Given the description of an element on the screen output the (x, y) to click on. 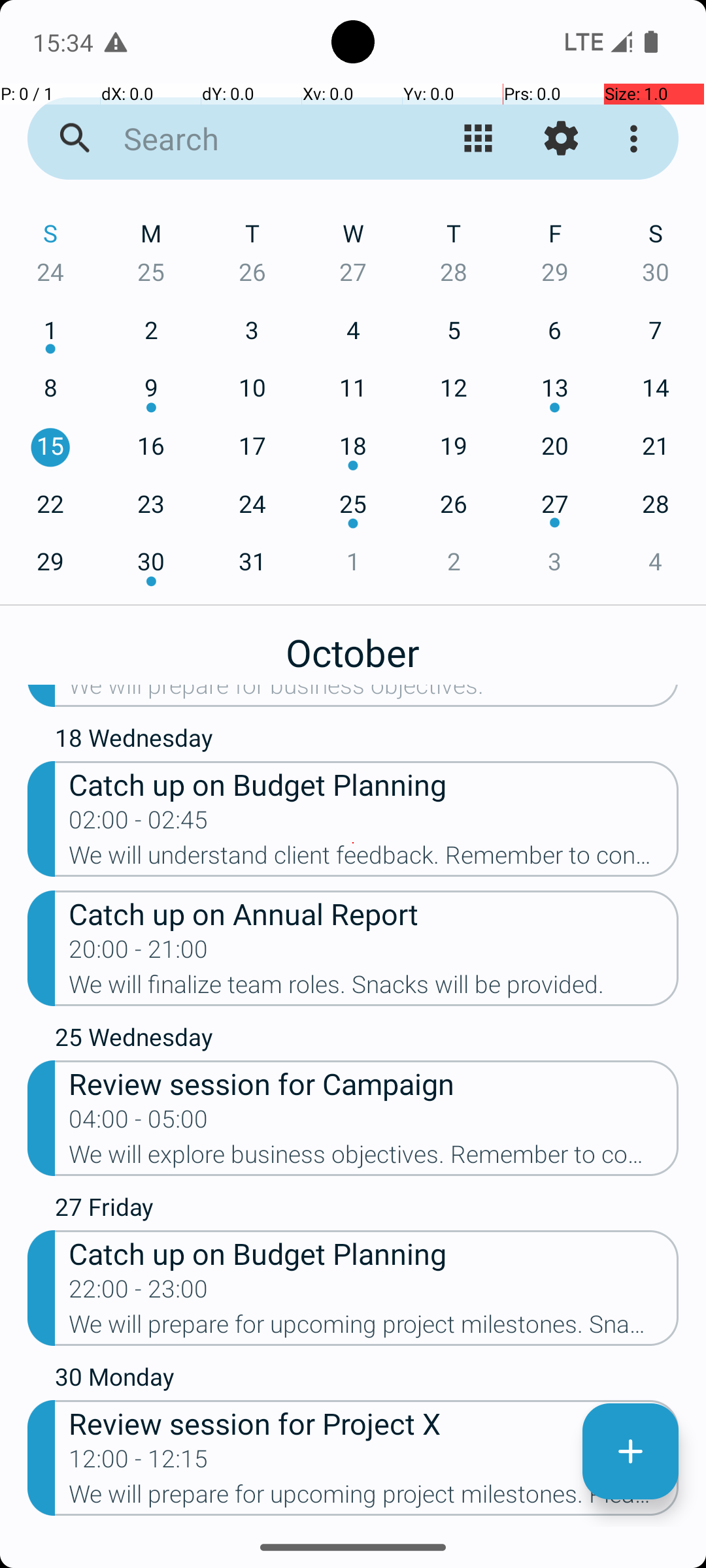
18 Wednesday Element type: android.widget.TextView (366, 740)
25 Wednesday Element type: android.widget.TextView (366, 1039)
27 Friday Element type: android.widget.TextView (366, 1209)
30 Monday Element type: android.widget.TextView (366, 1379)
We will prepare for business objectives. Element type: android.widget.TextView (373, 695)
Catch up on Budget Planning Element type: android.widget.TextView (373, 783)
02:00 - 02:45 Element type: android.widget.TextView (137, 823)
We will understand client feedback. Remember to confirm attendance. Element type: android.widget.TextView (373, 858)
Catch up on Annual Report Element type: android.widget.TextView (373, 912)
20:00 - 21:00 Element type: android.widget.TextView (137, 952)
We will finalize team roles. Snacks will be provided. Element type: android.widget.TextView (373, 988)
Review session for Campaign Element type: android.widget.TextView (373, 1082)
04:00 - 05:00 Element type: android.widget.TextView (137, 1122)
We will explore business objectives. Remember to confirm attendance. Element type: android.widget.TextView (373, 1158)
22:00 - 23:00 Element type: android.widget.TextView (137, 1292)
We will prepare for upcoming project milestones. Snacks will be provided. Element type: android.widget.TextView (373, 1327)
Review session for Project X Element type: android.widget.TextView (373, 1422)
12:00 - 12:15 Element type: android.widget.TextView (137, 1462)
We will prepare for upcoming project milestones. Please bring relevant documents. Element type: android.widget.TextView (373, 1497)
